Given the description of an element on the screen output the (x, y) to click on. 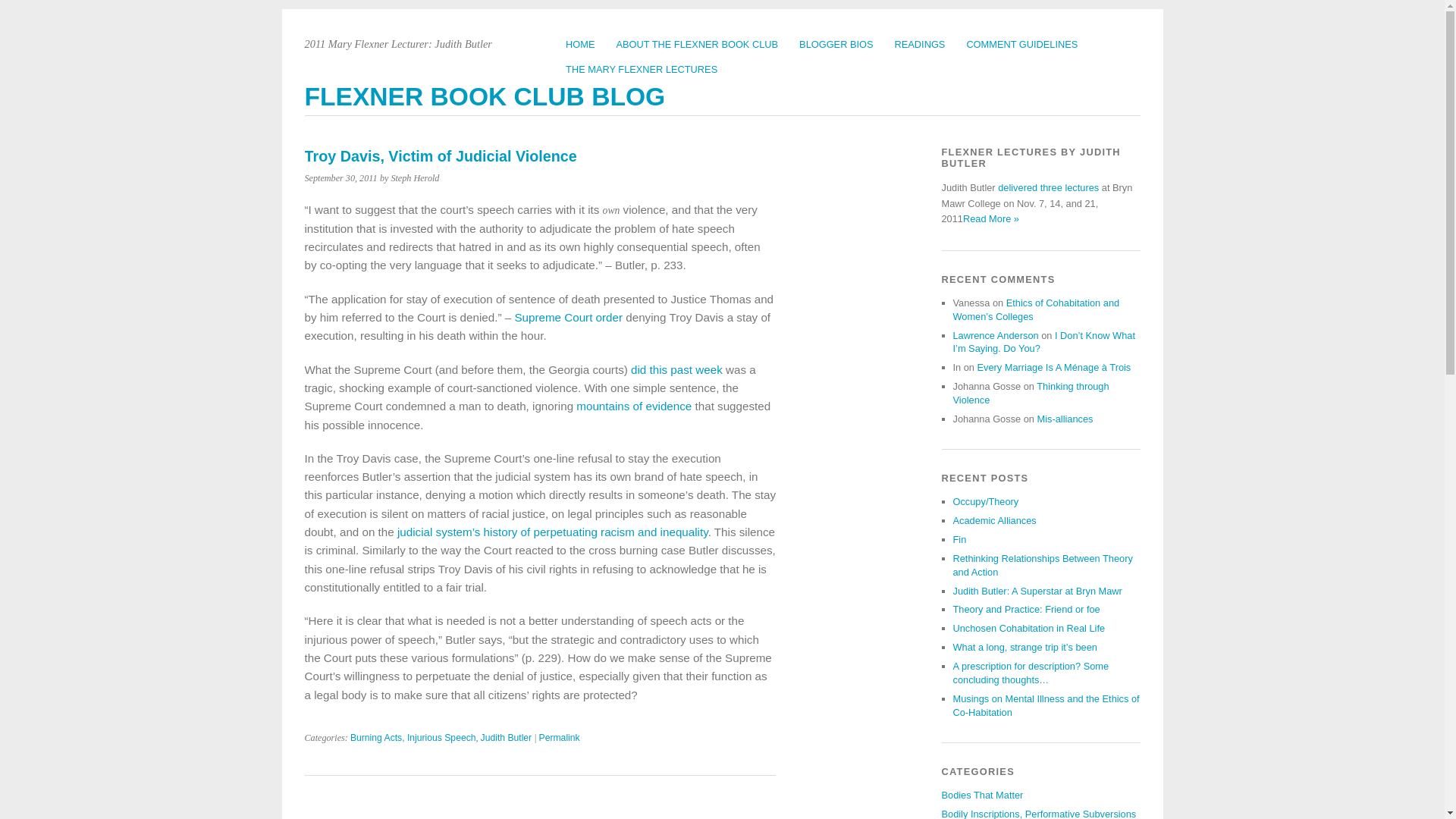
Mis-alliances (1064, 419)
HOME (579, 43)
THE MARY FLEXNER LECTURES (641, 68)
Permalink (558, 737)
Unchosen Cohabitation in Real Life (1028, 627)
The Mary Flexner Lectures (990, 218)
Bodies That Matter (982, 794)
did this past week (677, 369)
Fin (959, 539)
Burning Acts, Injurious Speech (413, 737)
